Given the description of an element on the screen output the (x, y) to click on. 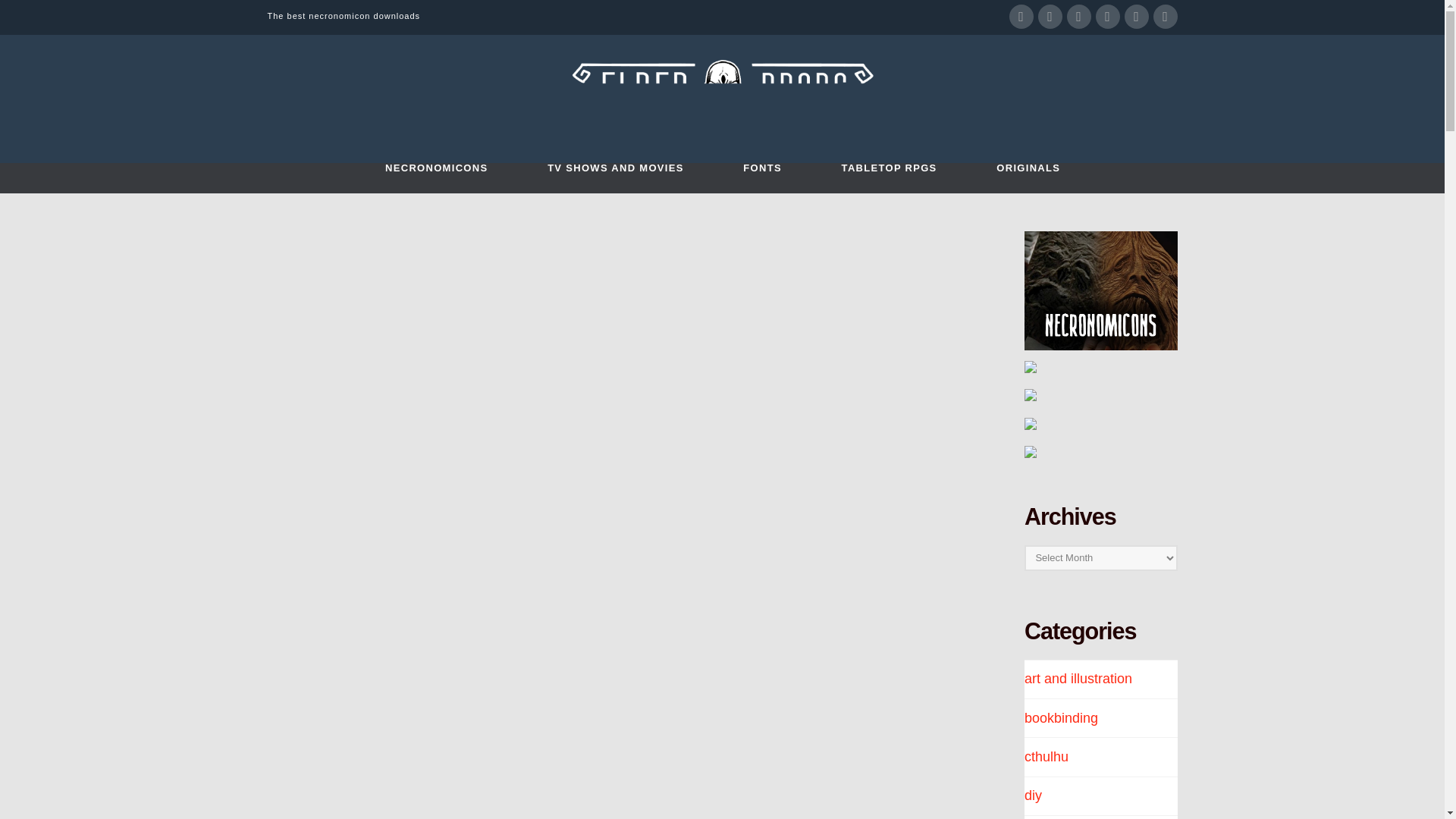
Pinterest (1136, 16)
FONTS (761, 177)
Twitter (1048, 16)
Behance (1164, 16)
Instagram (1106, 16)
TV SHOWS AND MOVIES (614, 177)
Facebook (1020, 16)
ORIGINALS (1027, 177)
NECRONOMICONS (435, 177)
TABLETOP RPGS (888, 177)
YouTube (1077, 16)
